Given the description of an element on the screen output the (x, y) to click on. 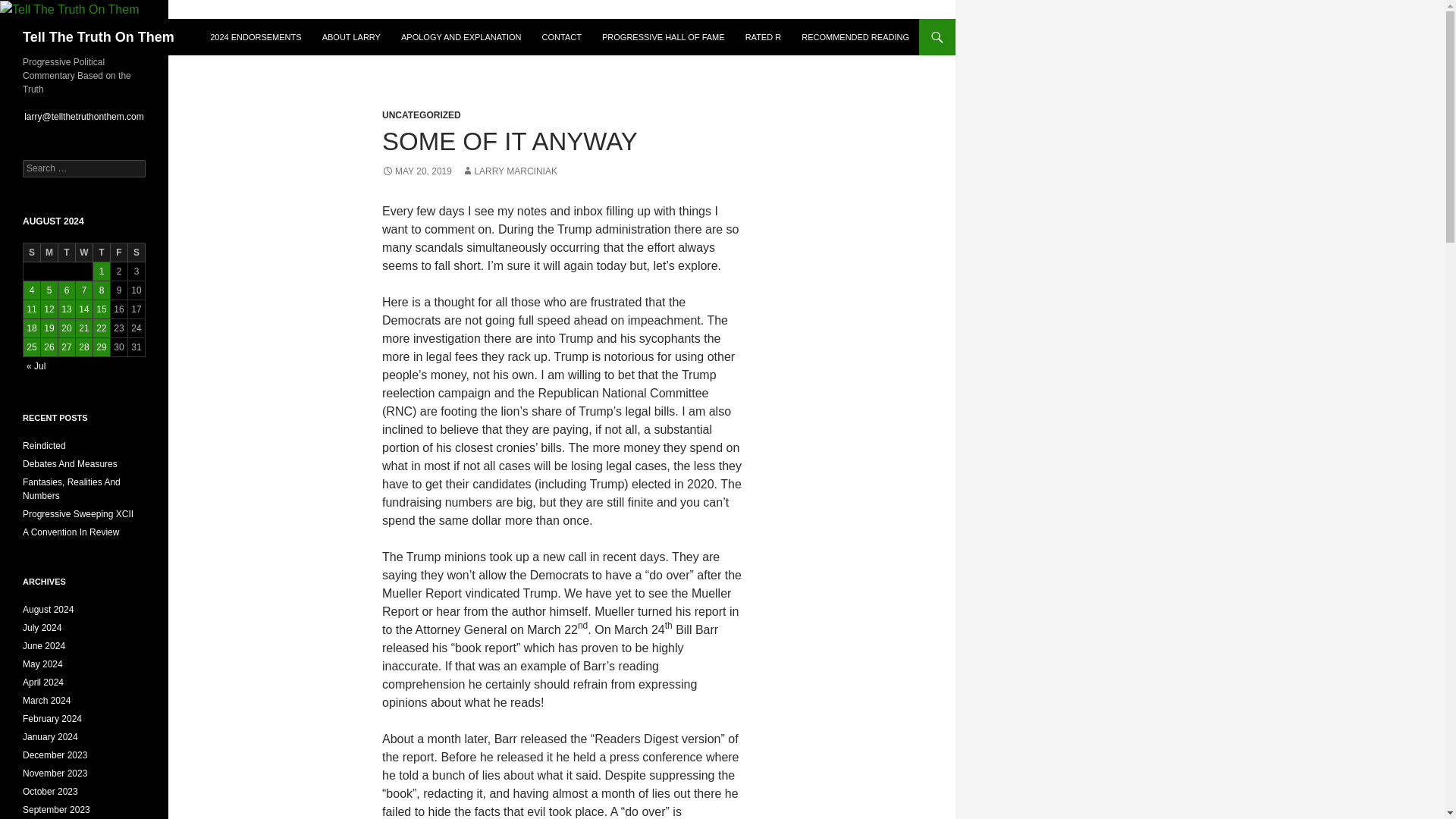
RECOMMENDED READING (855, 36)
Thursday (101, 252)
MAY 20, 2019 (416, 171)
2024 ENDORSEMENTS (255, 36)
LARRY MARCINIAK (509, 171)
UNCATEGORIZED (421, 114)
Wednesday (84, 252)
PROGRESSIVE HALL OF FAME (662, 36)
CONTACT (561, 36)
Saturday (136, 252)
